Given the description of an element on the screen output the (x, y) to click on. 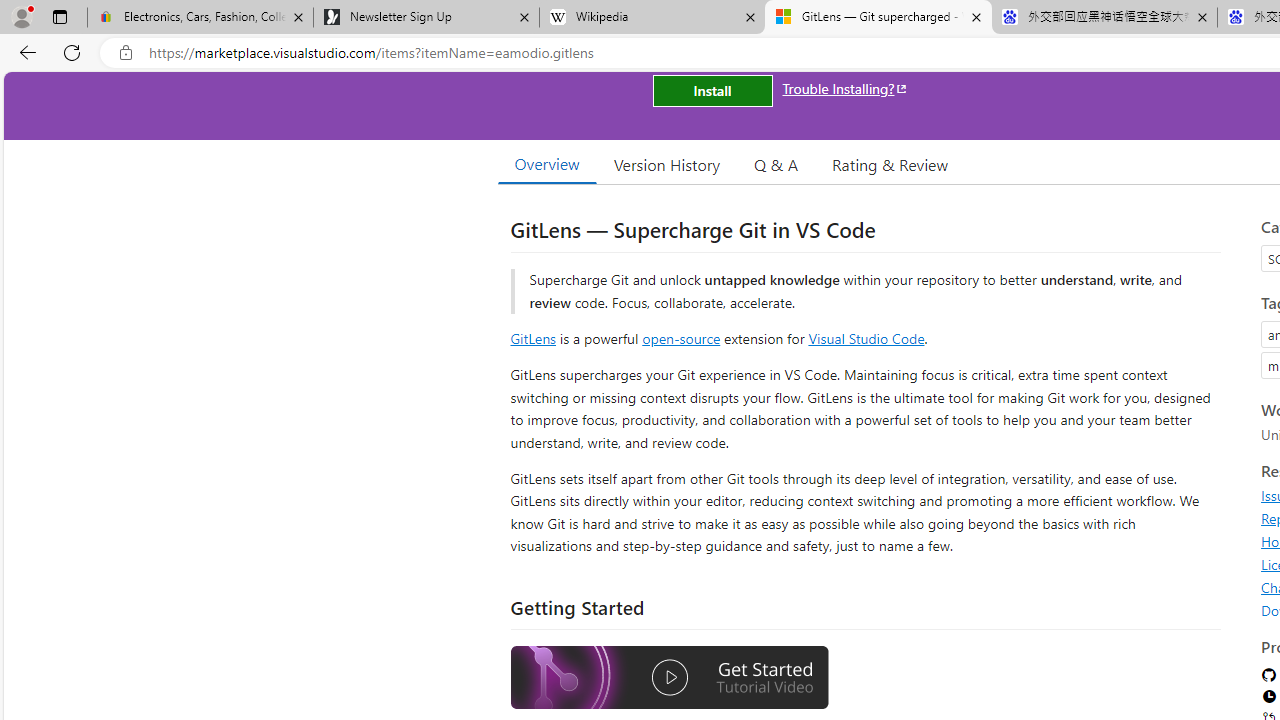
Rating & Review (890, 164)
Overview (546, 164)
Install (712, 90)
GitLens (532, 337)
